Given the description of an element on the screen output the (x, y) to click on. 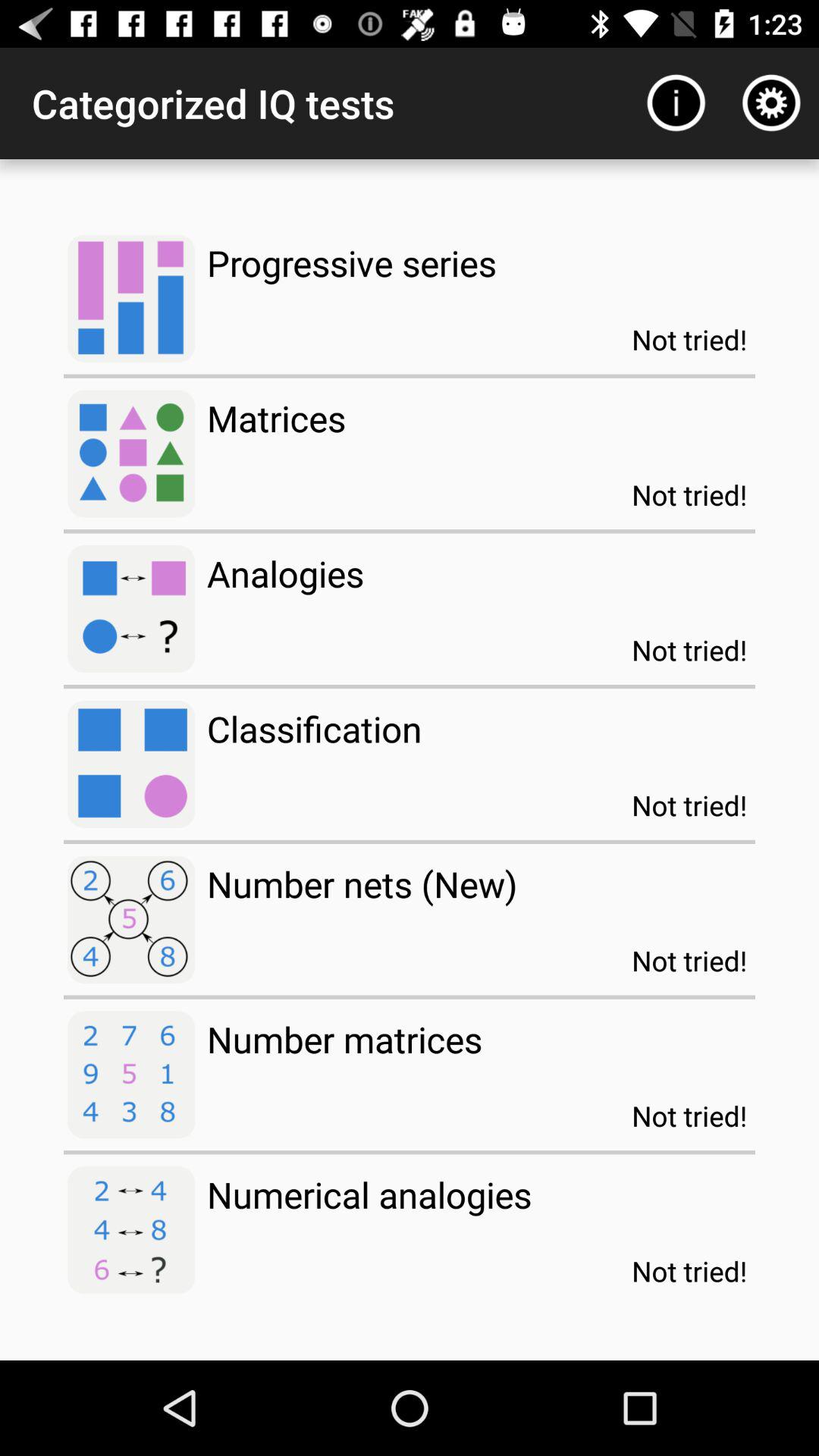
flip to the progressive series icon (351, 262)
